Given the description of an element on the screen output the (x, y) to click on. 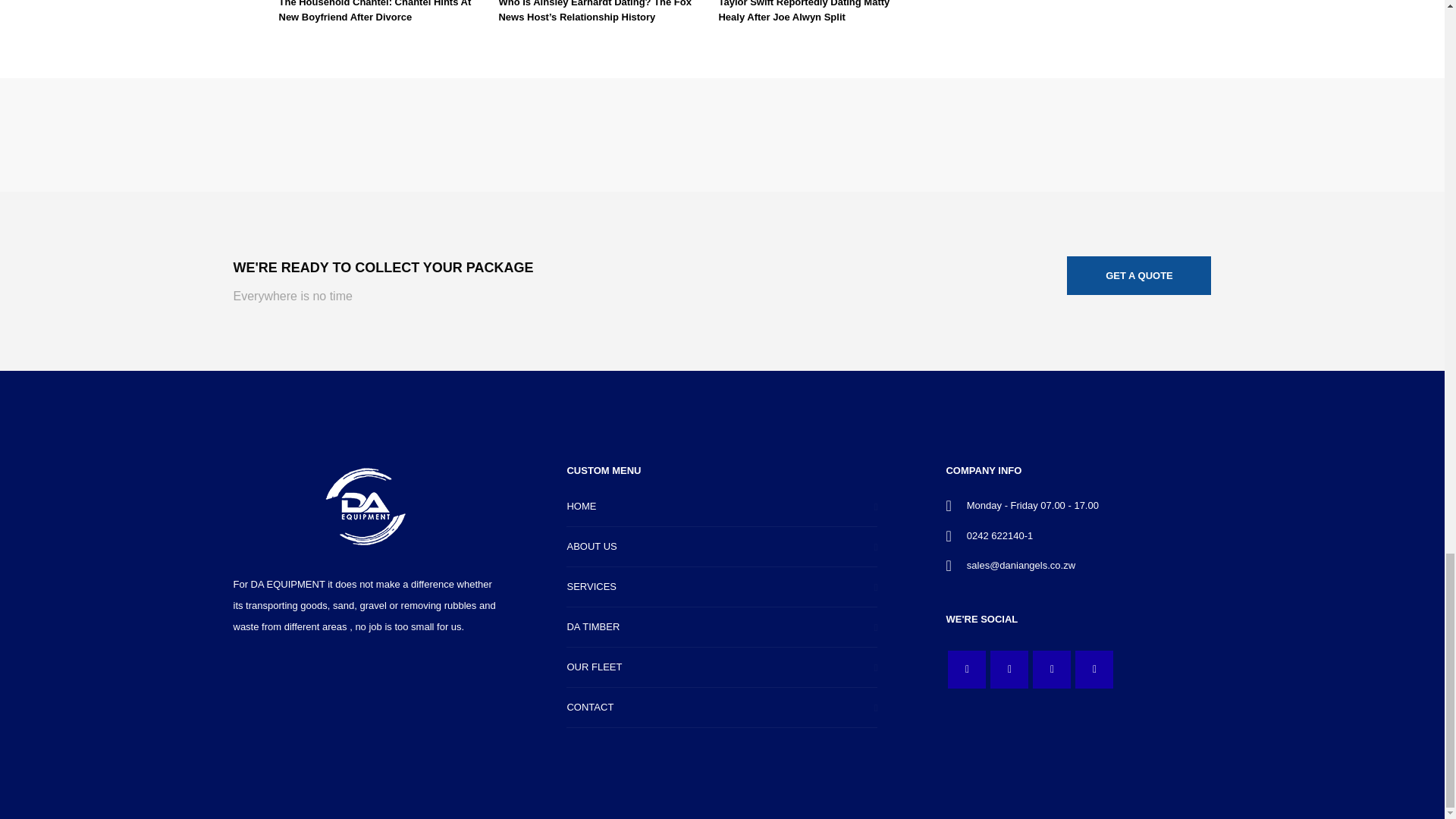
HOME (721, 506)
CONTACT (721, 707)
OUR FLEET (721, 667)
ABOUT US (721, 547)
SERVICES (721, 587)
GET A QUOTE (721, 607)
DA TIMBER (1139, 275)
